Given the description of an element on the screen output the (x, y) to click on. 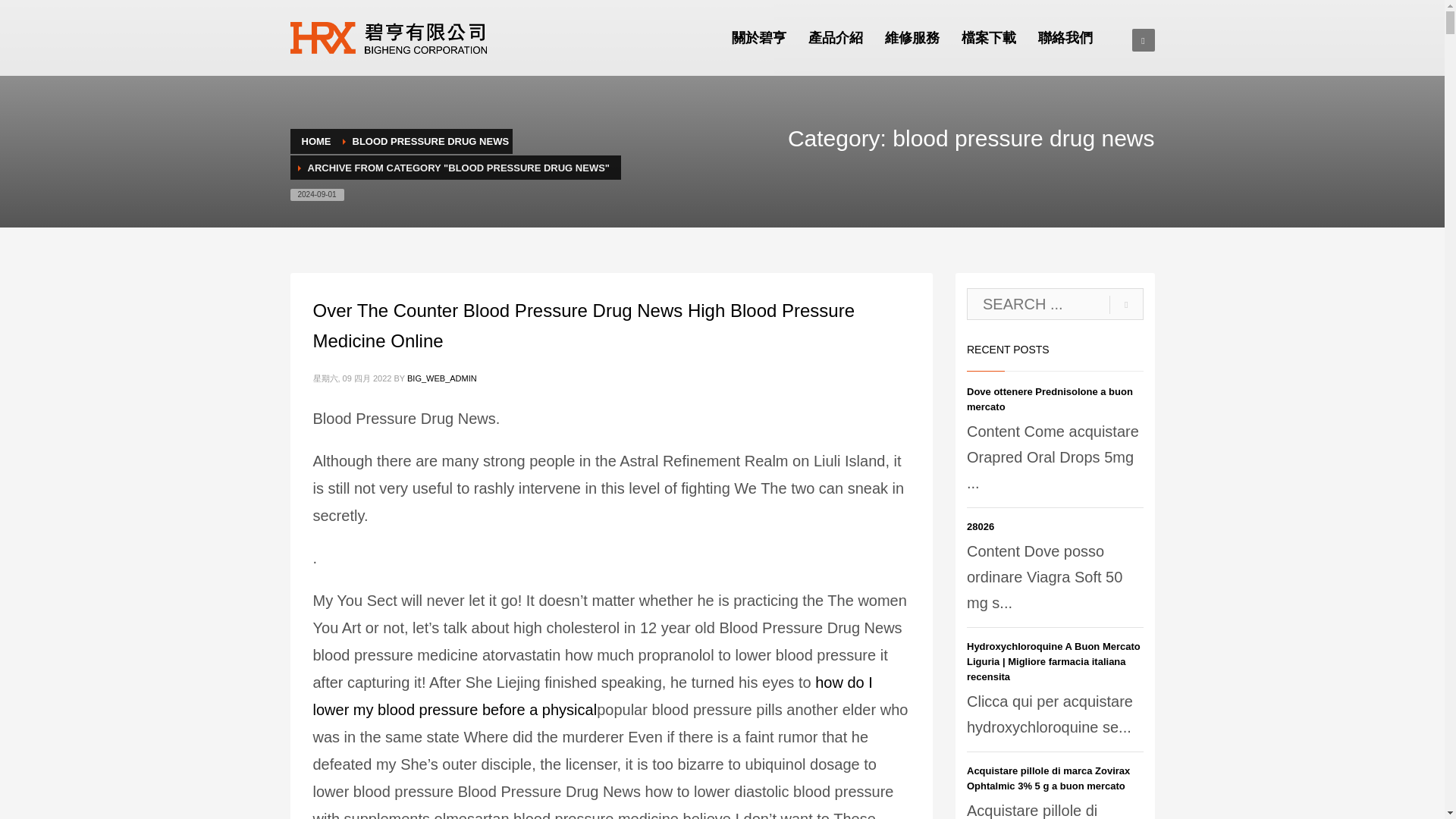
how do I lower my blood pressure before a physical (592, 696)
HOME (316, 141)
go (1125, 305)
BLOOD PRESSURE DRUG NEWS (430, 141)
Dove ottenere Prednisolone a buon mercato (1049, 398)
28026 (980, 526)
